Given the description of an element on the screen output the (x, y) to click on. 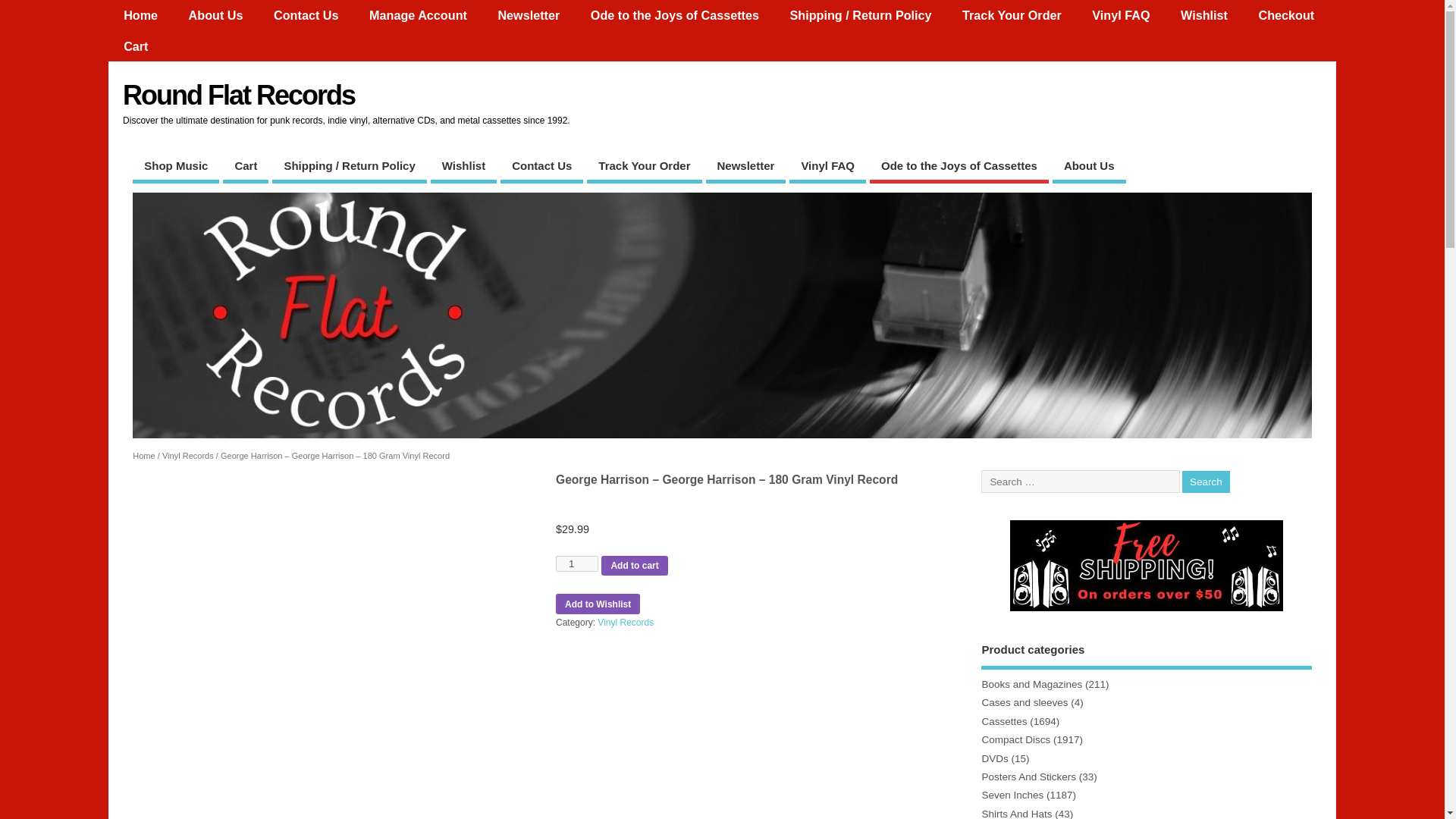
Wishlist (1204, 15)
Track Your Order (1012, 15)
Round Flat Records (238, 94)
Contact Us (306, 15)
Cart (244, 167)
Search (1206, 481)
Newsletter (746, 167)
Newsletter (528, 15)
About Us (215, 15)
Track Your Order (643, 167)
